Given the description of an element on the screen output the (x, y) to click on. 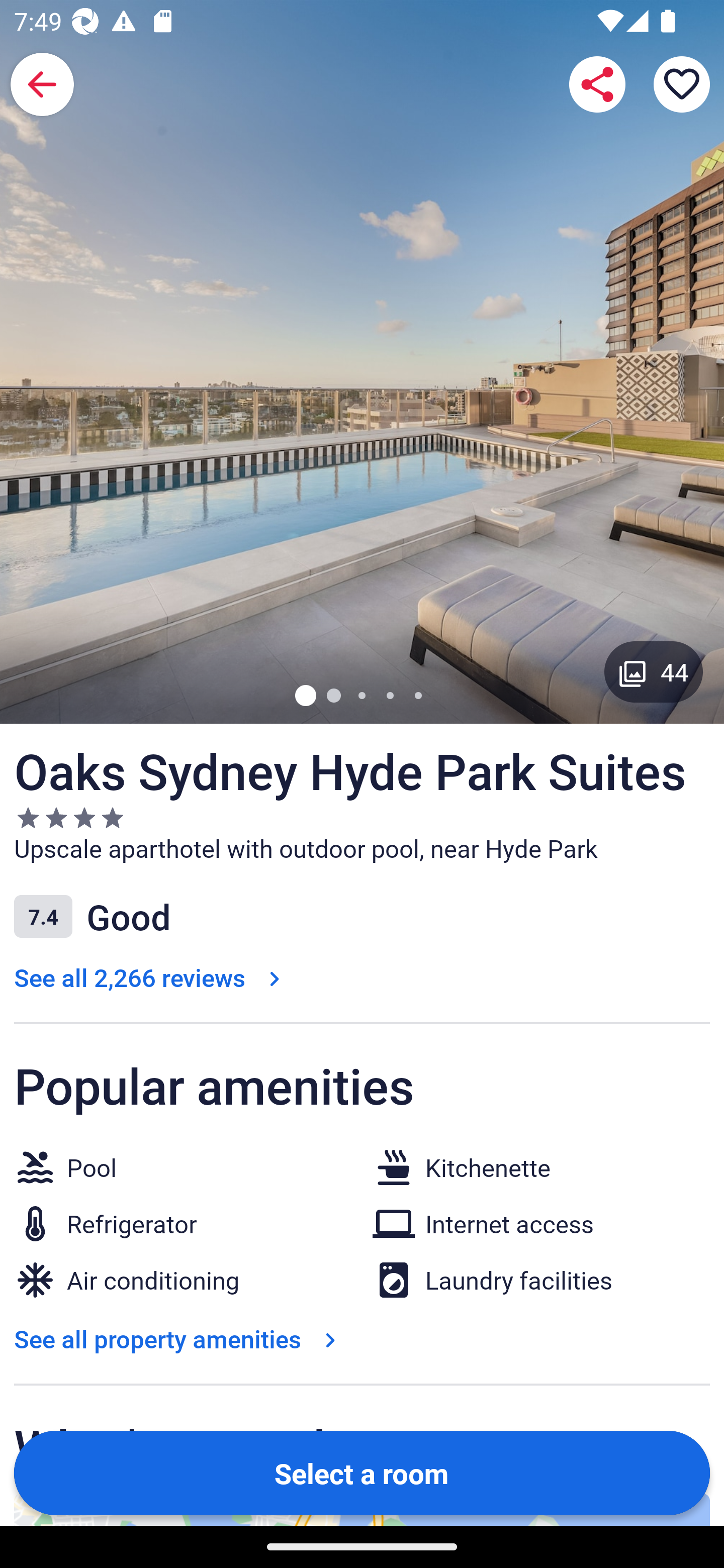
Back (42, 84)
Save property to a trip (681, 84)
Share Oaks Sydney Hyde Park Suites (597, 84)
Gallery button with 44 images (653, 671)
See all 2,266 reviews See all 2,266 reviews Link (150, 976)
See all property amenities (178, 1338)
Select a room Button Select a room (361, 1472)
